Given the description of an element on the screen output the (x, y) to click on. 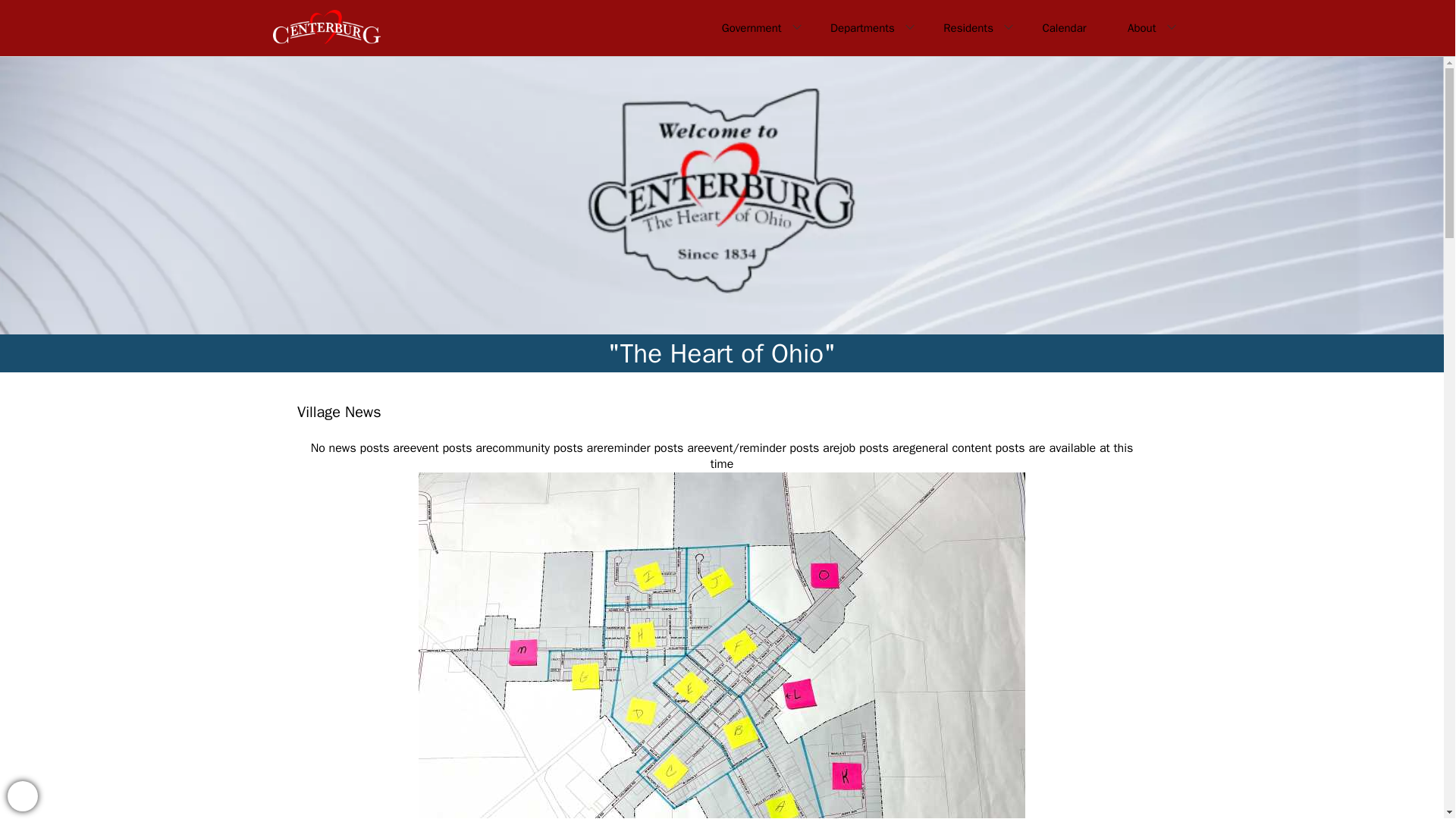
Departments (866, 28)
About (1144, 28)
Calendar (1063, 28)
Government (755, 28)
Residents (972, 28)
